Given the description of an element on the screen output the (x, y) to click on. 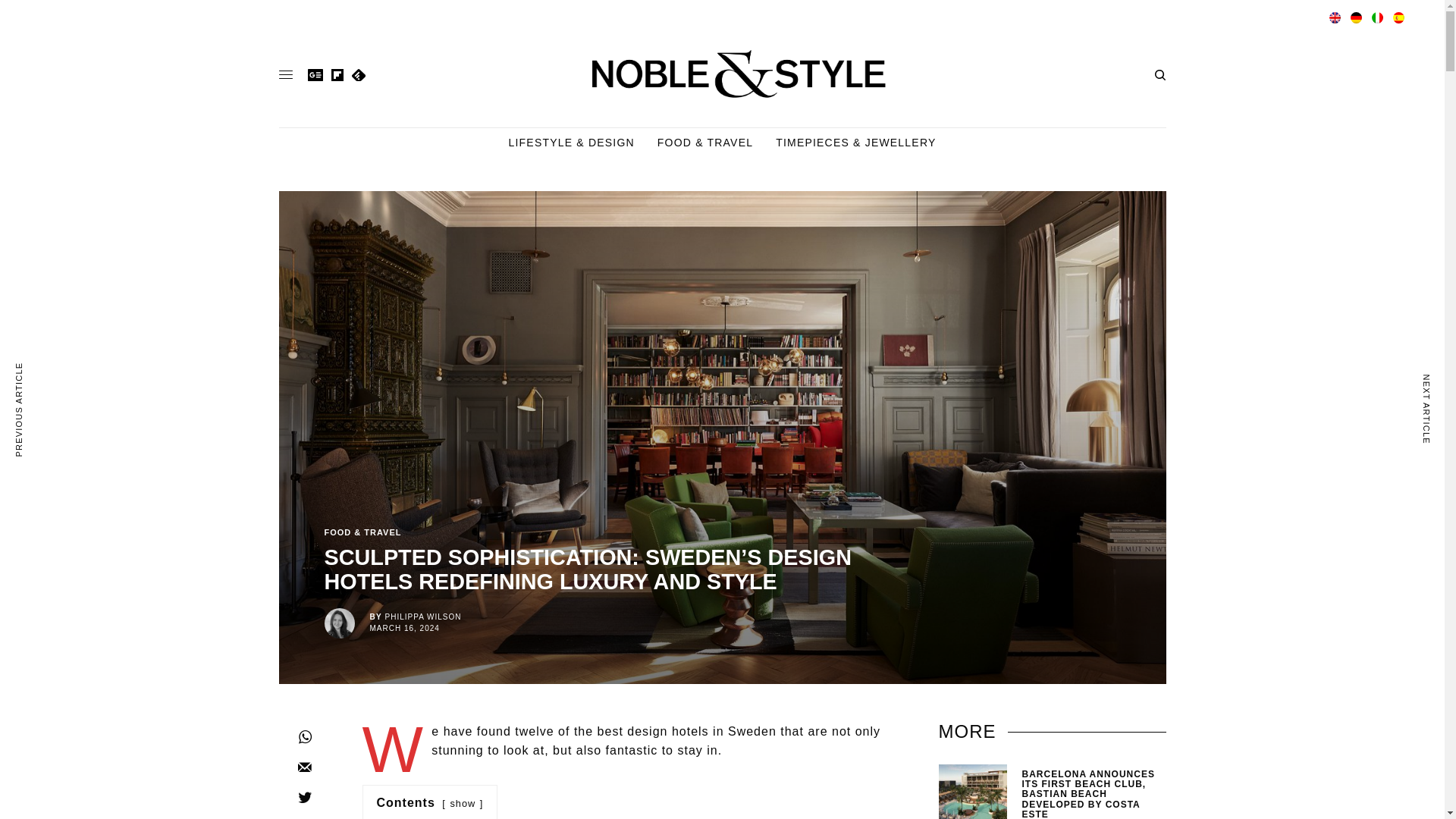
PHILIPPA WILSON (423, 616)
show (462, 803)
Posts by Philippa Wilson (423, 616)
